Given the description of an element on the screen output the (x, y) to click on. 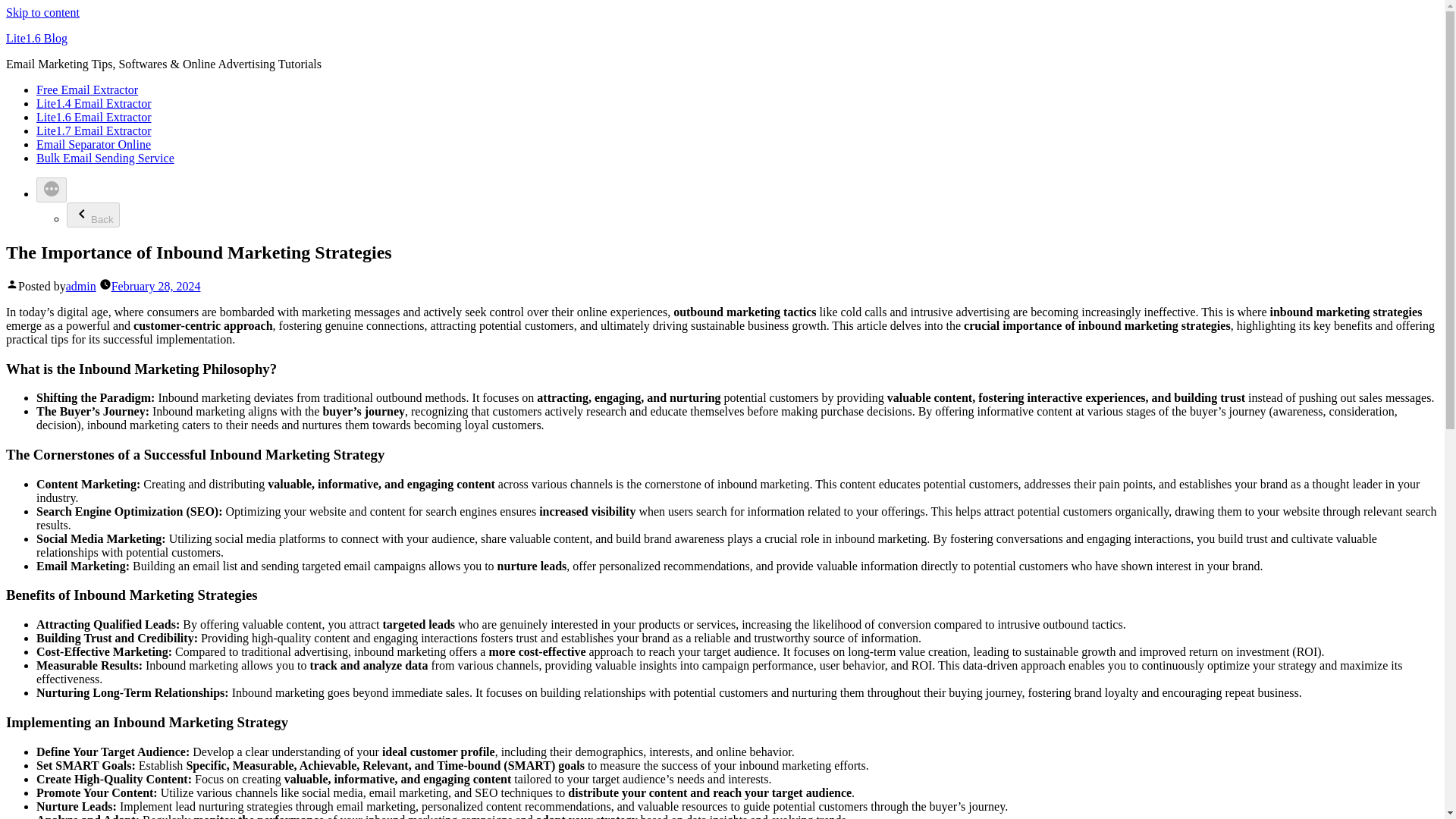
admin (80, 286)
Bulk Email Sending Service (105, 157)
Free Email Extractor (87, 89)
Lite1.4 Email Extractor (93, 103)
Lite1.7 Email Extractor (93, 130)
Lite1.6 Email Extractor (93, 116)
Email Separator Online (93, 144)
Skip to content (42, 11)
February 28, 2024 (156, 286)
Lite1.6 Blog (35, 38)
Back (92, 214)
